Given the description of an element on the screen output the (x, y) to click on. 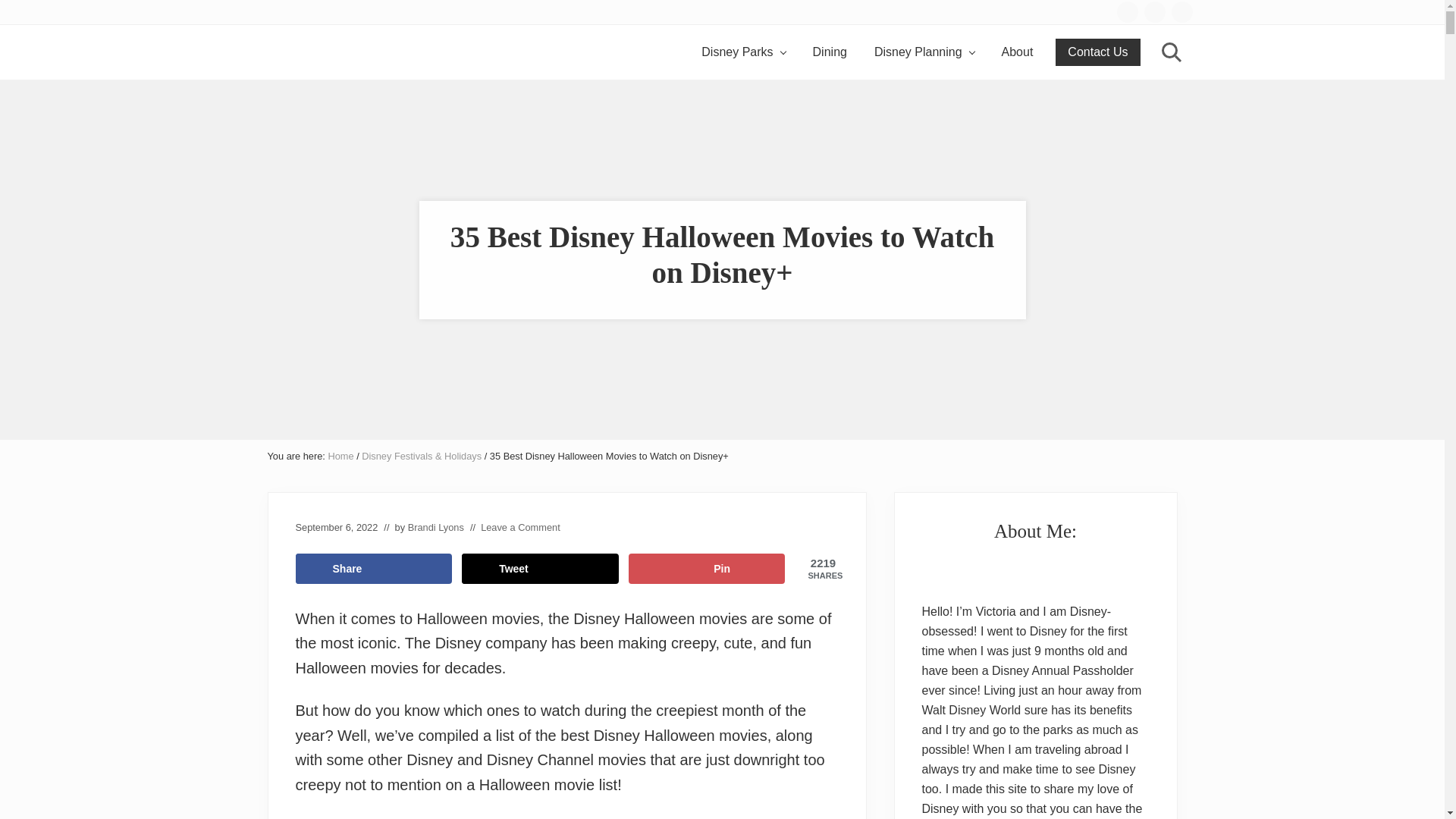
Pinterest (1181, 11)
Facebook (1126, 11)
Facebook (1126, 11)
Pinterest (1181, 11)
Save to Pinterest (707, 568)
Share on X (539, 568)
Disney Parks (742, 52)
Instagram (1153, 11)
Leave a Comment (520, 527)
Share on Facebook (373, 568)
